Given the description of an element on the screen output the (x, y) to click on. 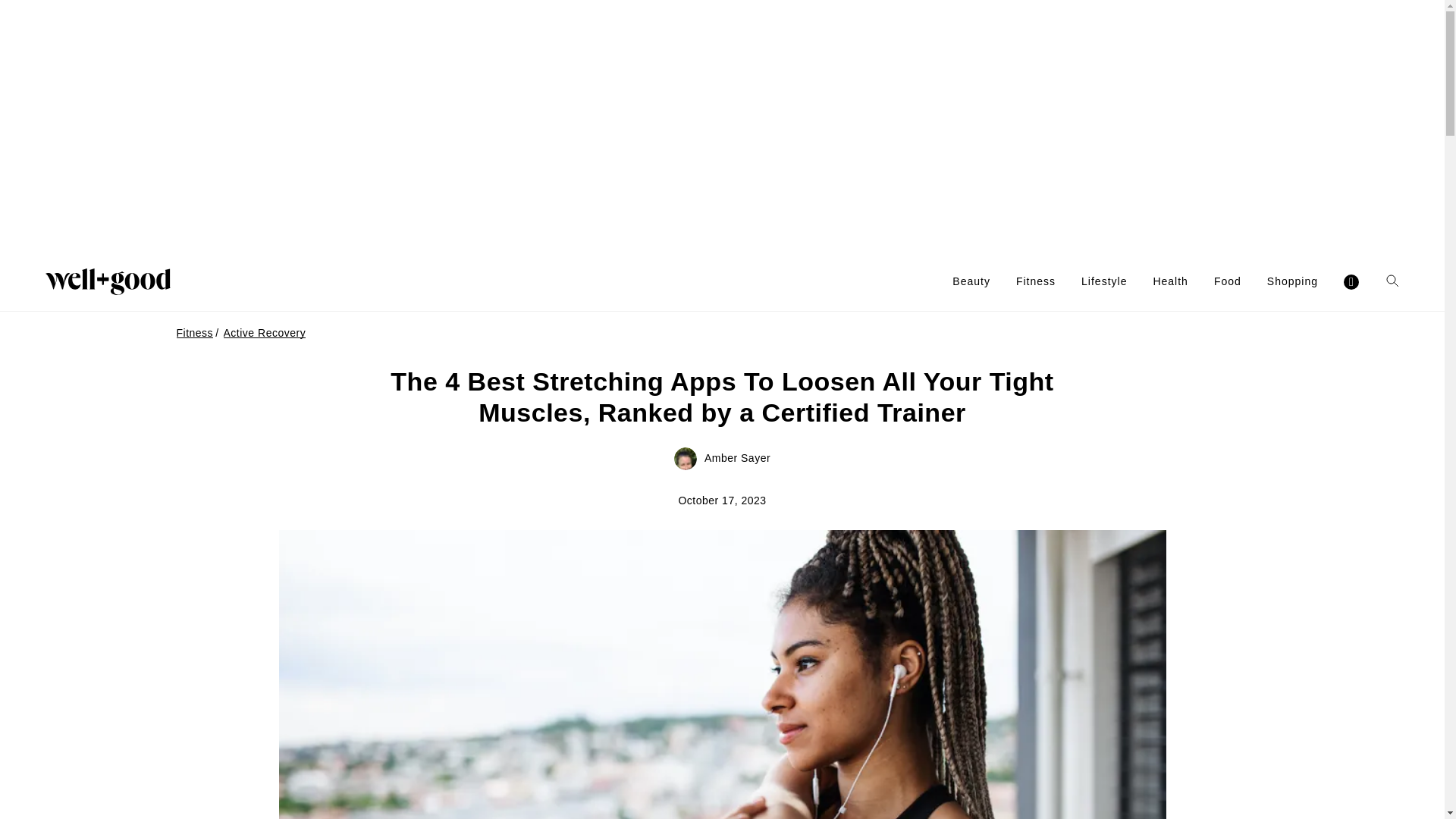
Shopping (1291, 281)
Food (1227, 281)
Beauty (971, 281)
Lifestyle (1103, 281)
Health (1170, 281)
Fitness (1035, 281)
